Given the description of an element on the screen output the (x, y) to click on. 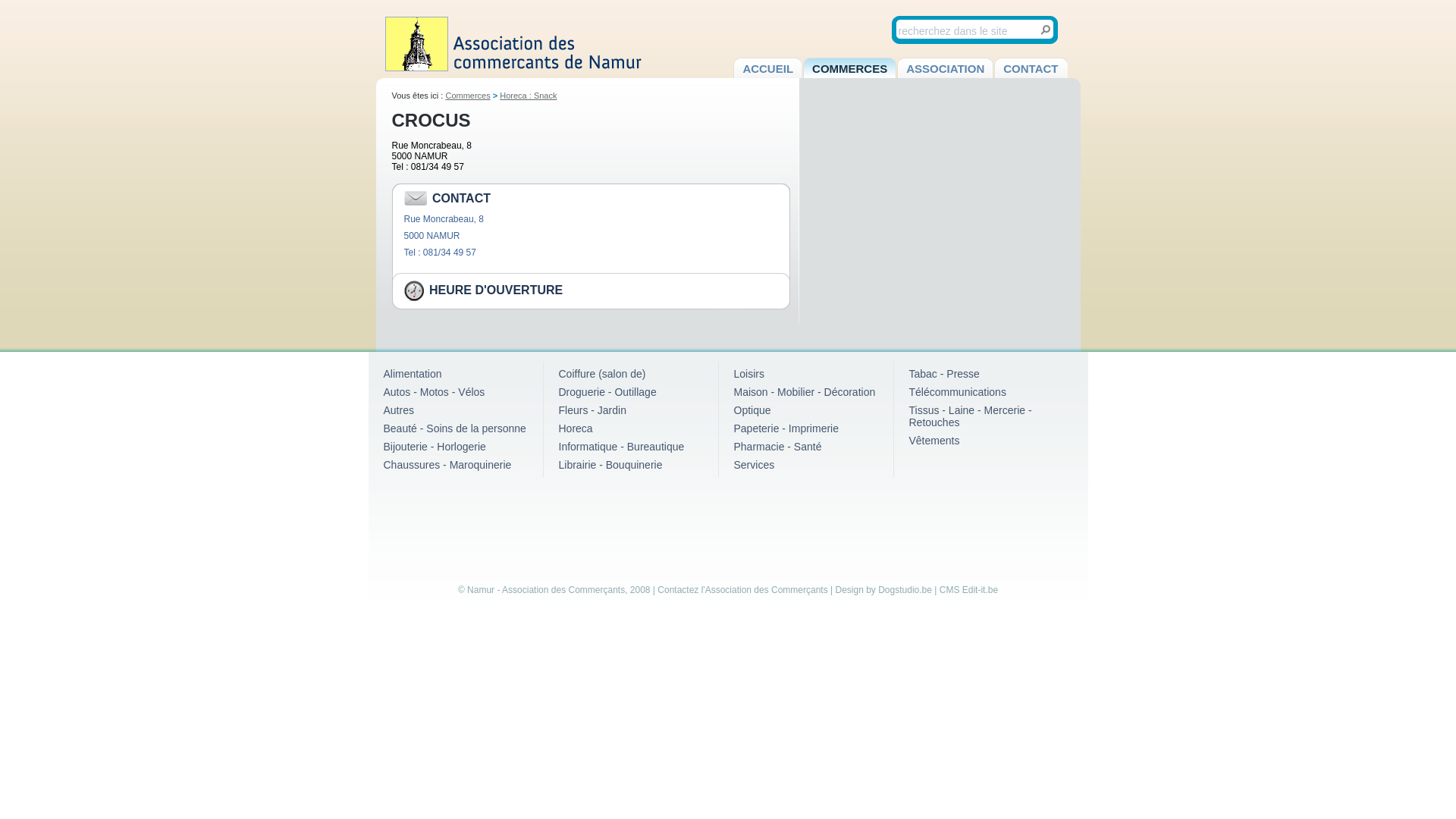
Autres Element type: text (398, 410)
ASSOCIATION Element type: text (945, 67)
Fleurs - Jardin Element type: text (591, 410)
ACCUEIL Element type: text (767, 67)
Droguerie - Outillage Element type: text (606, 391)
Informatique - Bureautique Element type: text (621, 446)
Design by Dogstudio.be Element type: text (883, 589)
Horeca : Snack Element type: text (527, 95)
Papeterie - Imprimerie Element type: text (786, 428)
Optique Element type: text (752, 410)
Tabac - Presse Element type: text (943, 373)
Commerces Element type: text (467, 95)
Chaussures - Maroquinerie Element type: text (447, 464)
Tissus - Laine - Mercerie - Retouches Element type: text (969, 416)
CONTACT Element type: text (1030, 67)
CMS Edit-it.be Element type: text (968, 589)
  Element type: text (1045, 29)
Bijouterie - Horlogerie Element type: text (434, 446)
COMMERCES Element type: text (849, 67)
Coiffure (salon de) Element type: text (601, 373)
Librairie - Bouquinerie Element type: text (610, 464)
